Given the description of an element on the screen output the (x, y) to click on. 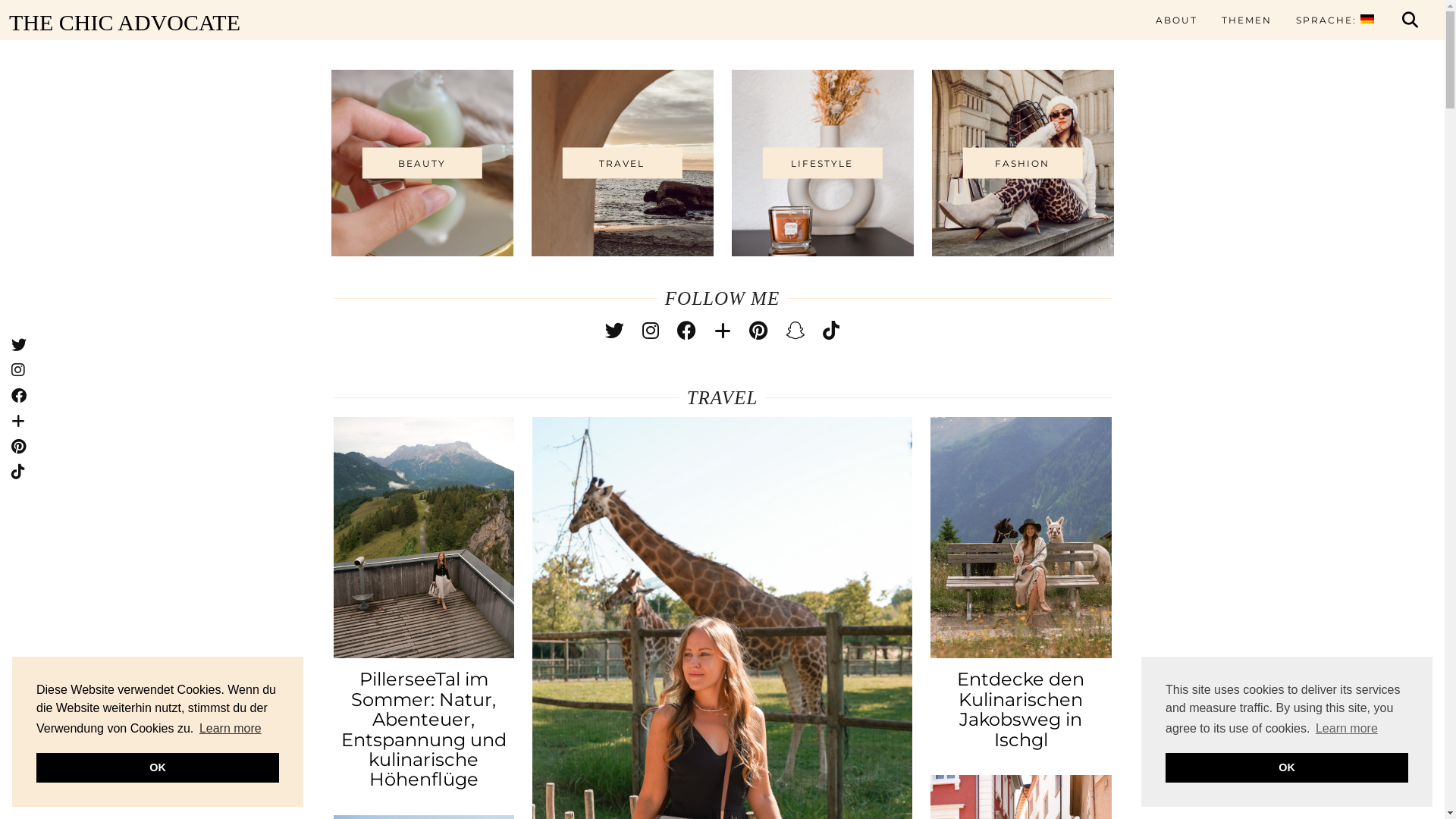
Entdecke den Kulinarischen Jakobsweg in Ischgl Element type: hover (1020, 537)
BEAUTY Element type: text (421, 162)
OK Element type: text (1286, 767)
facebook Element type: hover (686, 330)
instagram Element type: hover (650, 330)
Search Element type: hover (1410, 20)
THE CHIC ADVOCATE Element type: text (301, 22)
Learn more Element type: text (1346, 728)
SPRACHE:  Element type: text (1334, 20)
tiktok Element type: hover (830, 330)
snapchat Element type: hover (794, 330)
Entdecke den Kulinarischen Jakobsweg in Ischgl Element type: text (1020, 708)
OK Element type: text (157, 767)
bloglovin Element type: hover (722, 330)
ABOUT Element type: text (1176, 20)
twitter Element type: hover (614, 330)
pinterest Element type: hover (758, 330)
Learn more Element type: text (230, 728)
THEMEN Element type: text (1246, 20)
TRAVEL Element type: text (621, 162)
FASHION Element type: text (1022, 162)
LIFESTYLE Element type: text (822, 162)
